Given the description of an element on the screen output the (x, y) to click on. 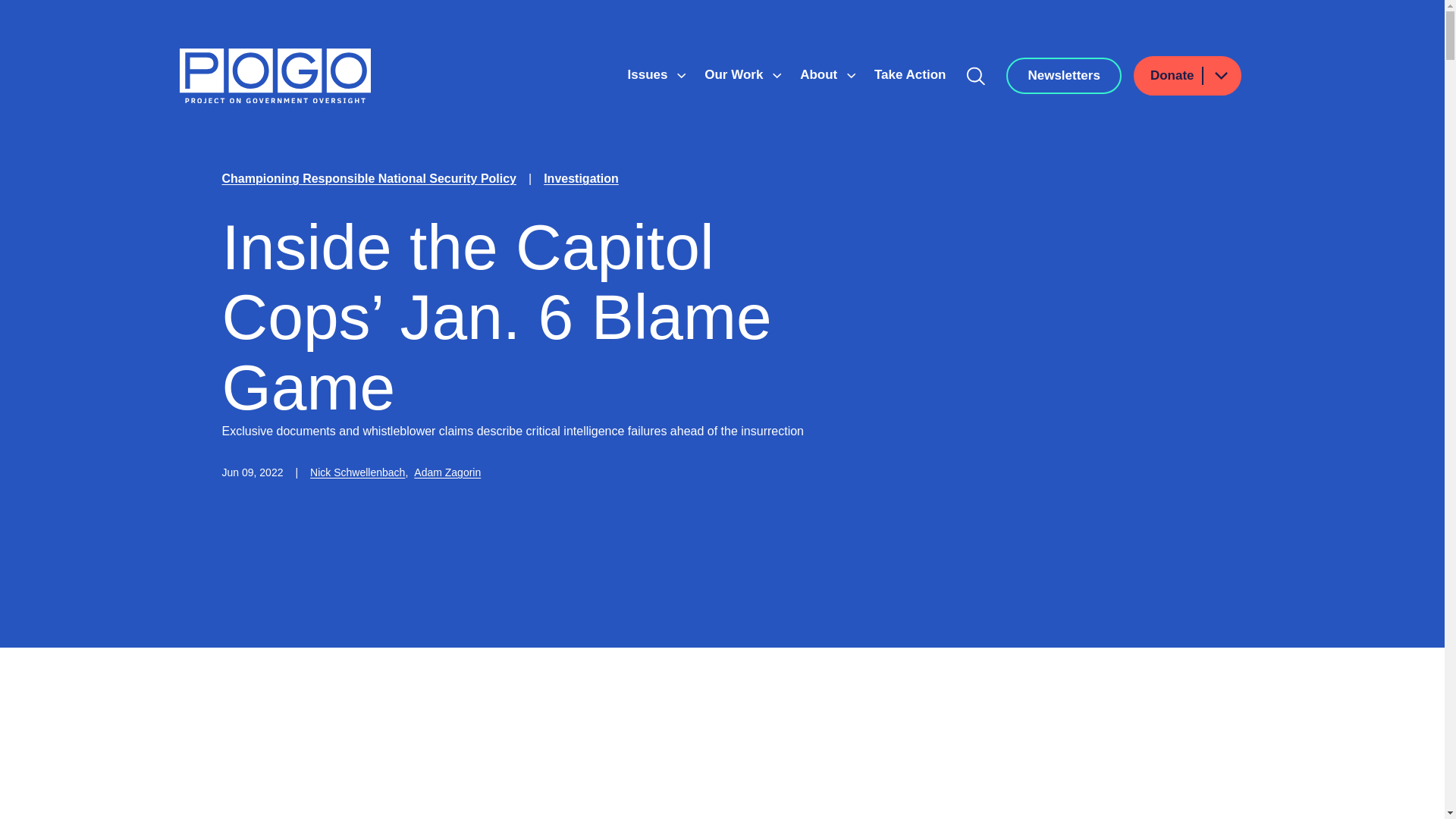
Show submenu for About (851, 75)
Our Work (735, 74)
Show submenu for Donate (1220, 75)
Take Action (909, 74)
Issues (649, 74)
Search (976, 75)
Home (274, 75)
Show submenu for Issues (681, 75)
Donate (1187, 75)
About (820, 74)
Newsletters (1063, 75)
Show submenu for Our Work (777, 75)
